Given the description of an element on the screen output the (x, y) to click on. 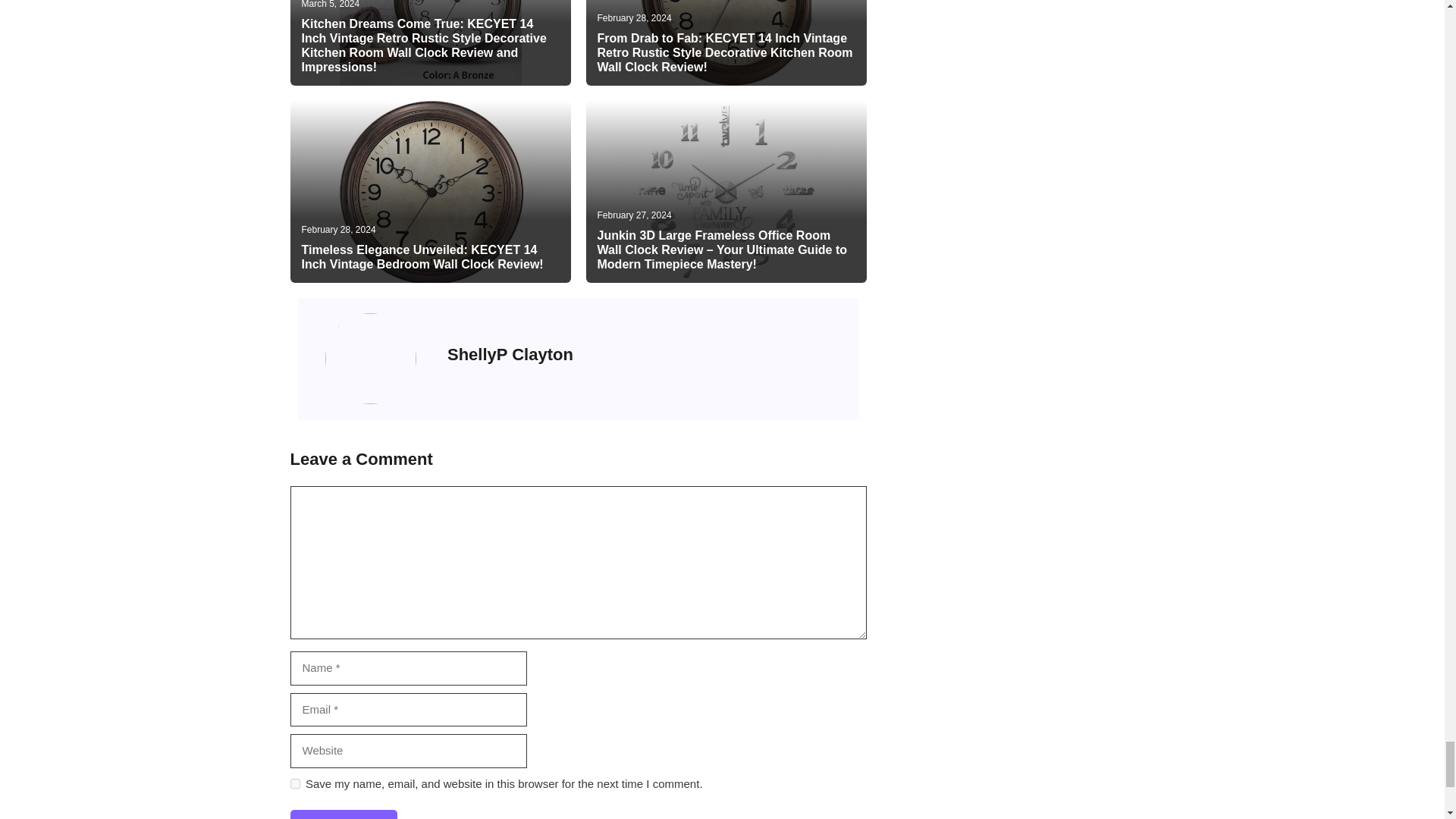
yes (294, 783)
Post Comment (342, 814)
